Given the description of an element on the screen output the (x, y) to click on. 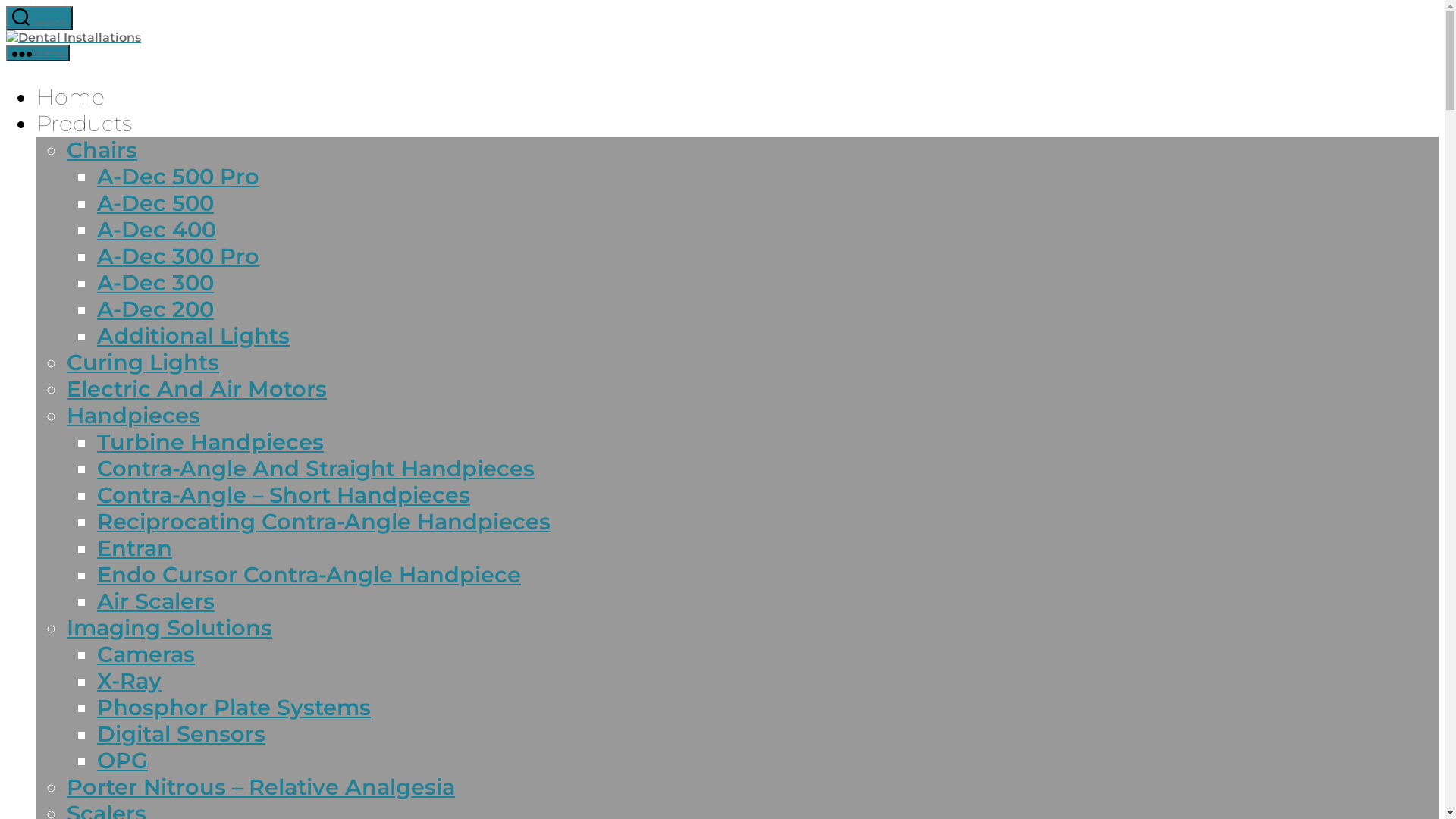
Reciprocating Contra-Angle Handpieces Element type: text (323, 521)
Skip to the content Element type: text (5, 5)
Turbine Handpieces Element type: text (210, 441)
Digital Sensors Element type: text (181, 733)
Contra-Angle And Straight Handpieces Element type: text (315, 468)
Products Element type: text (83, 122)
Electric And Air Motors Element type: text (196, 388)
Imaging Solutions Element type: text (169, 627)
OPG Element type: text (122, 759)
Phosphor Plate Systems Element type: text (233, 706)
Chairs Element type: text (101, 149)
Menu Element type: text (37, 52)
A-Dec 400 Element type: text (156, 229)
Curing Lights Element type: text (142, 361)
A-Dec 300 Pro Element type: text (178, 255)
Cameras Element type: text (145, 653)
A-Dec 300 Element type: text (155, 282)
Search Element type: text (39, 18)
Additional Lights Element type: text (193, 335)
Handpieces Element type: text (133, 414)
A-Dec 500 Pro Element type: text (178, 176)
X-Ray Element type: text (129, 680)
Entran Element type: text (134, 547)
A-Dec 500 Element type: text (155, 202)
Home Element type: text (70, 96)
Endo Cursor Contra-Angle Handpiece Element type: text (308, 574)
A-Dec 200 Element type: text (155, 308)
Air Scalers Element type: text (155, 600)
